Given the description of an element on the screen output the (x, y) to click on. 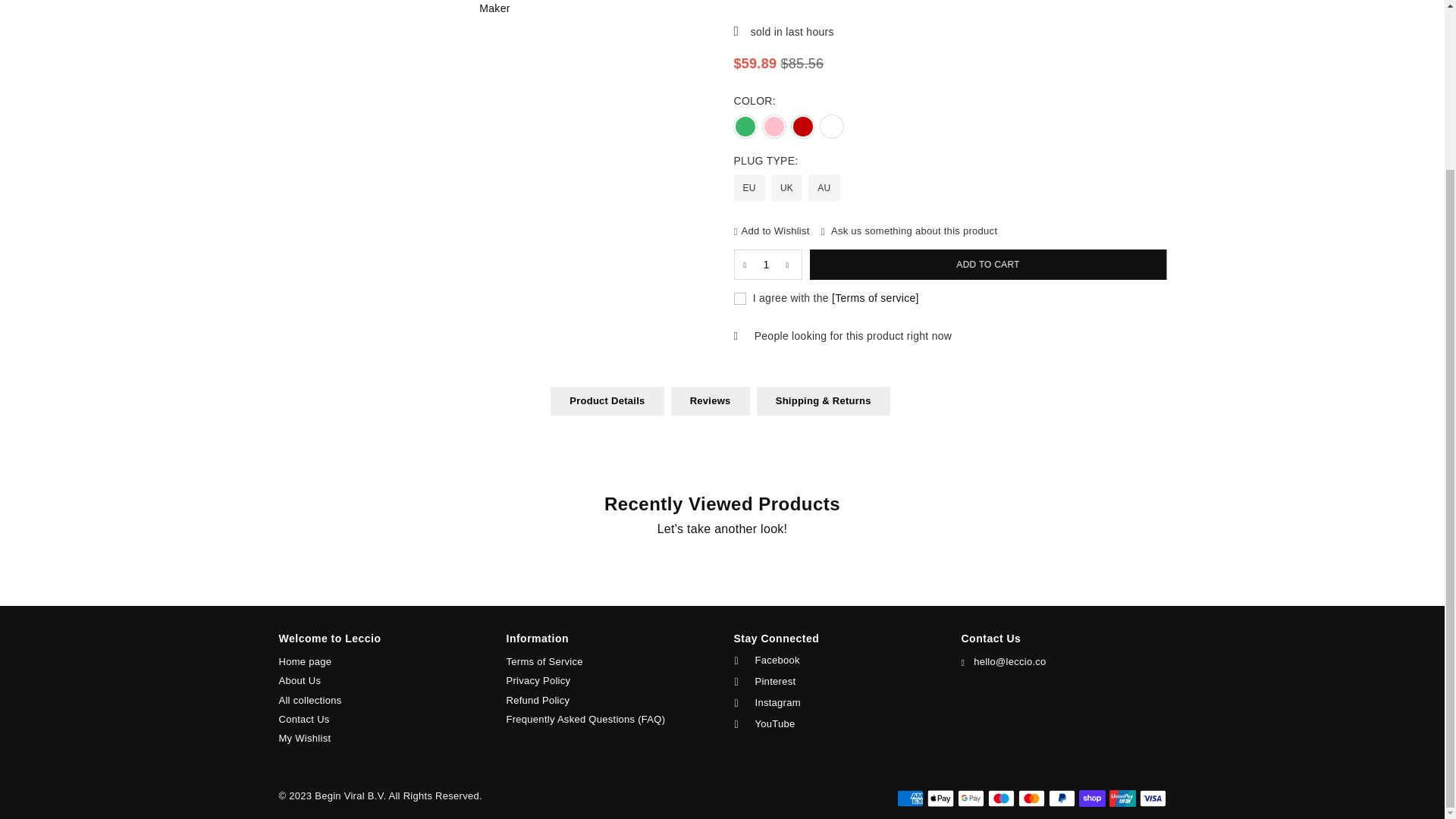
Leccio - Small improvements in life on Facebook (831, 660)
PayPal (1061, 798)
Leccio - Small improvements in life on Pinterest (831, 681)
Maestro (1000, 798)
Visa (1152, 798)
Mastercard (1030, 798)
Leccio - Small improvements in life on YouTube (831, 724)
Leccio - Small improvements in life on Instagram (831, 703)
Google Pay (970, 798)
Union Pay (1121, 798)
